Given the description of an element on the screen output the (x, y) to click on. 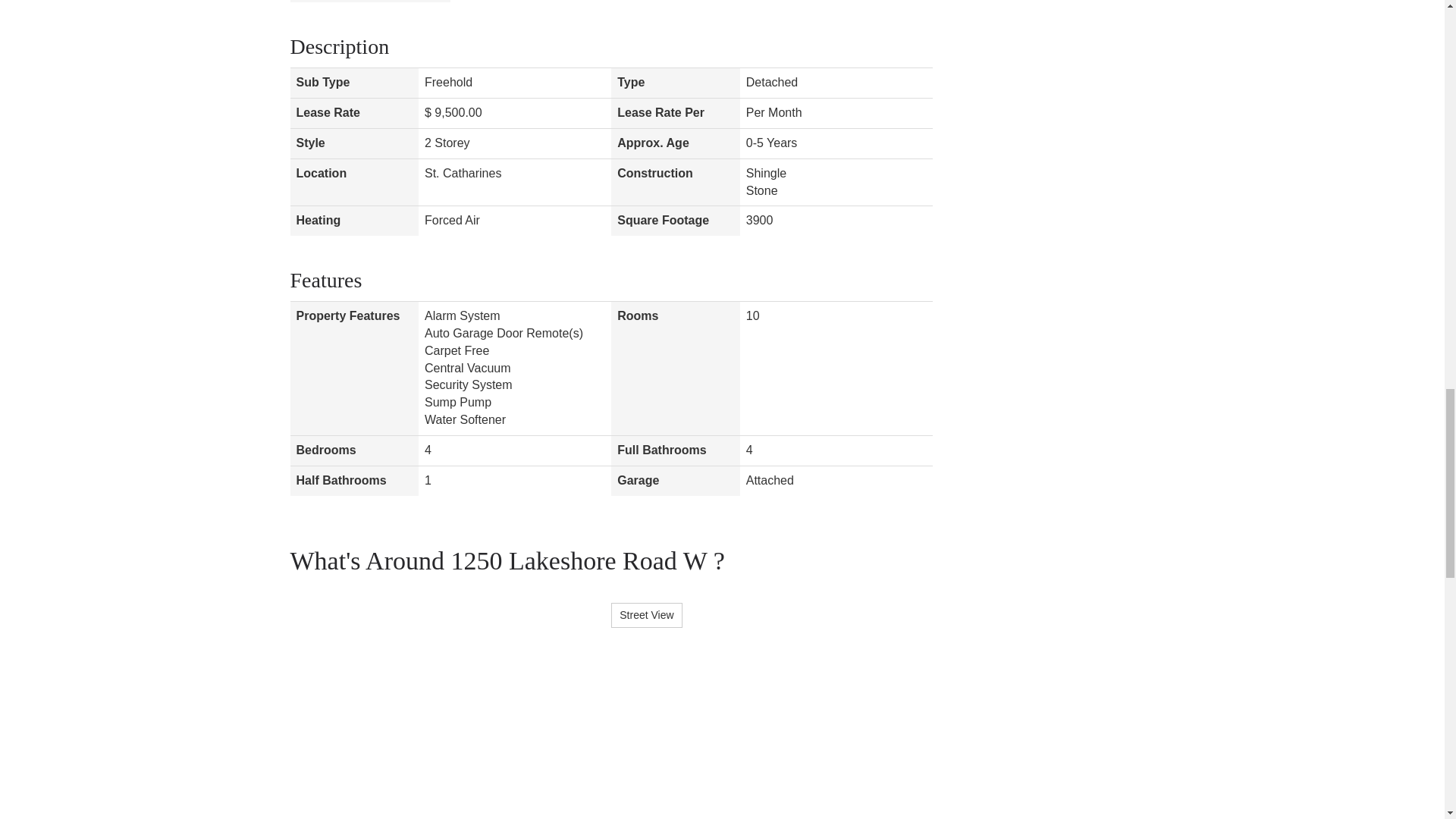
Street View (646, 615)
